Given the description of an element on the screen output the (x, y) to click on. 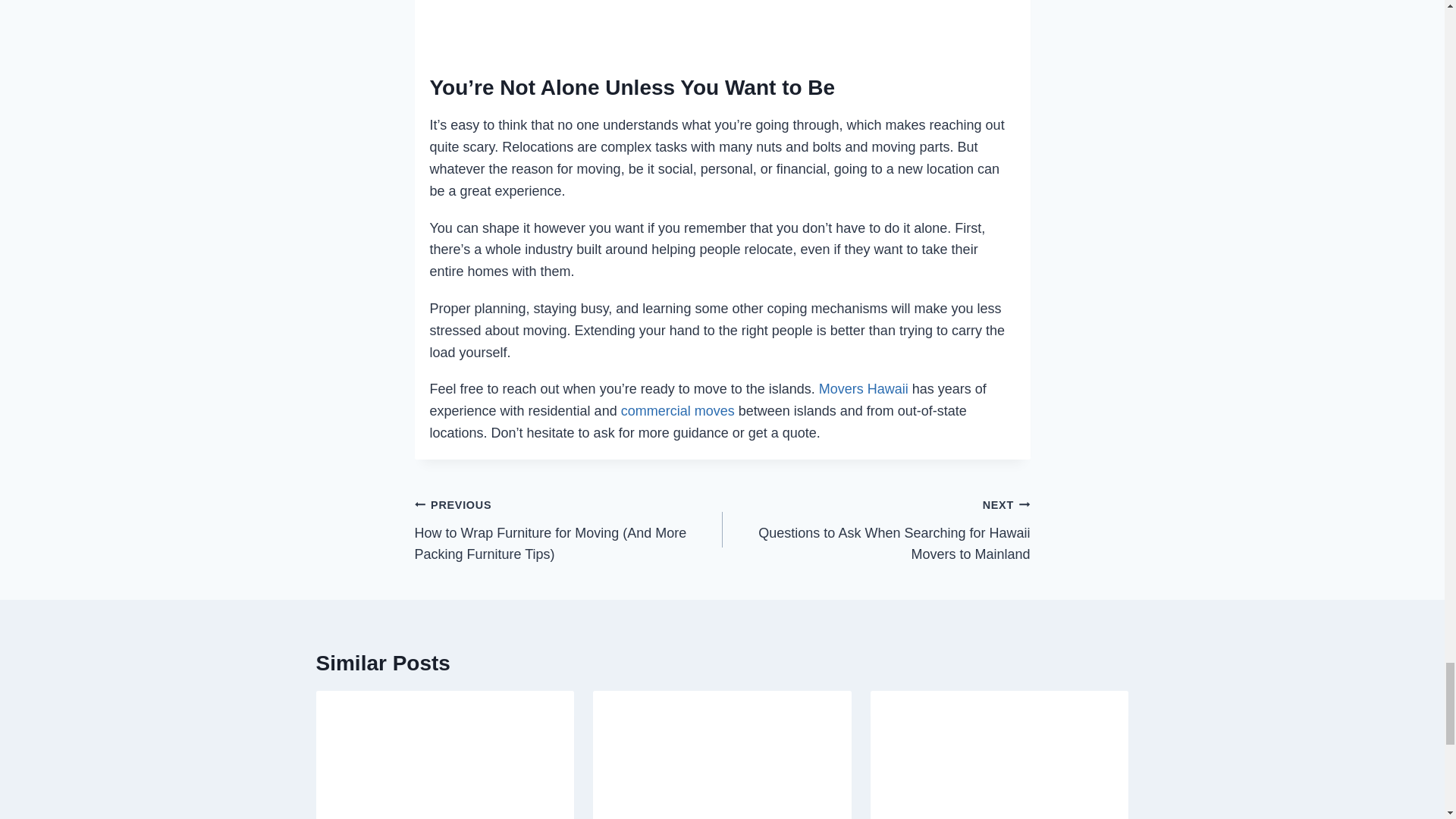
Movers Hawaii (863, 388)
commercial moves (678, 410)
